Given the description of an element on the screen output the (x, y) to click on. 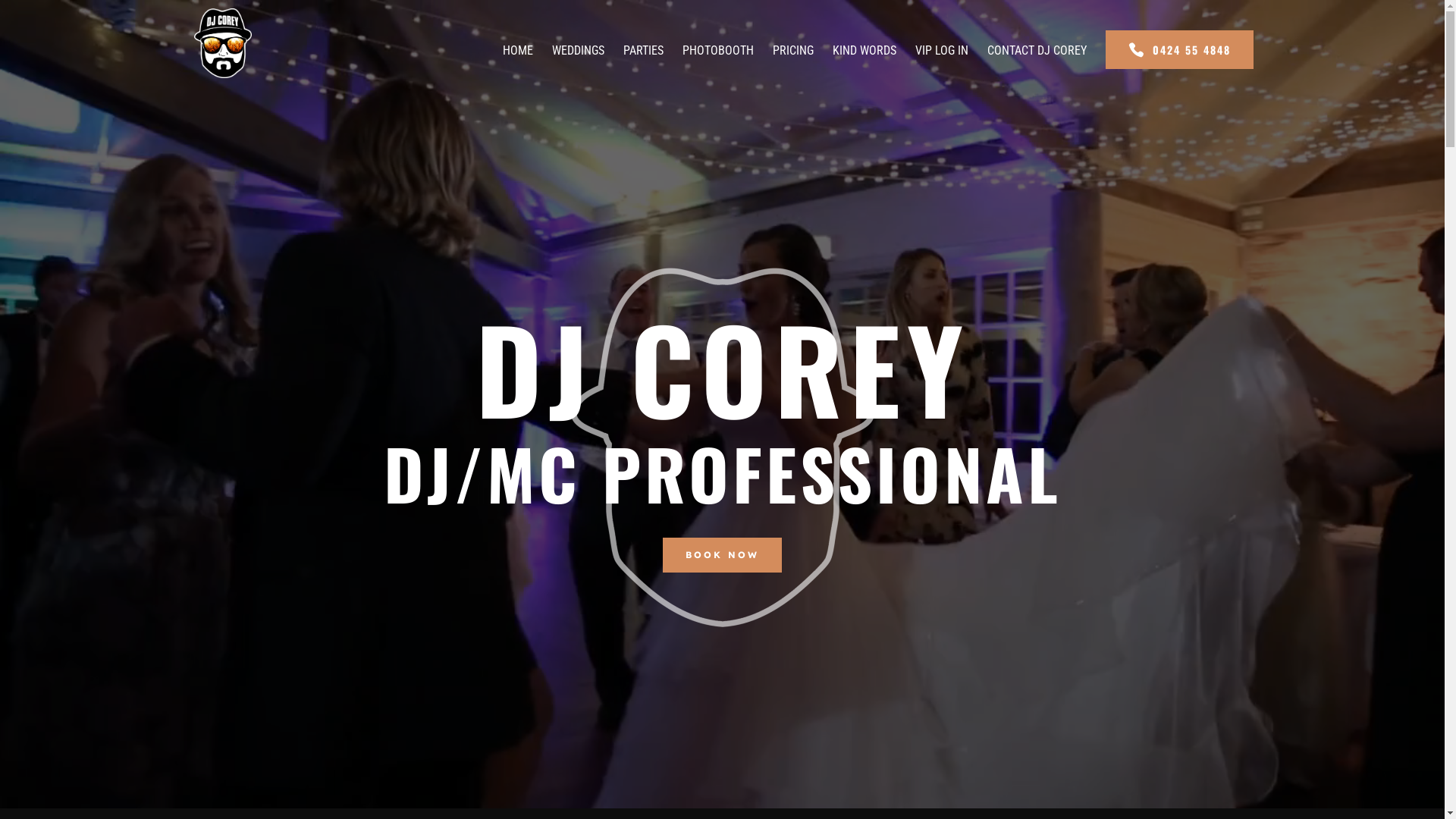
PRICING Element type: text (791, 65)
WEDDINGS Element type: text (578, 65)
KIND WORDS Element type: text (864, 65)
CONTACT DJ COREY Element type: text (1036, 65)
PHOTOBOOTH Element type: text (717, 65)
HOME Element type: text (517, 65)
BOOK NOW Element type: text (721, 554)
VIP LOG IN Element type: text (940, 65)
PARTIES Element type: text (643, 65)
0424 55 4848 Element type: text (1179, 49)
